Given the description of an element on the screen output the (x, y) to click on. 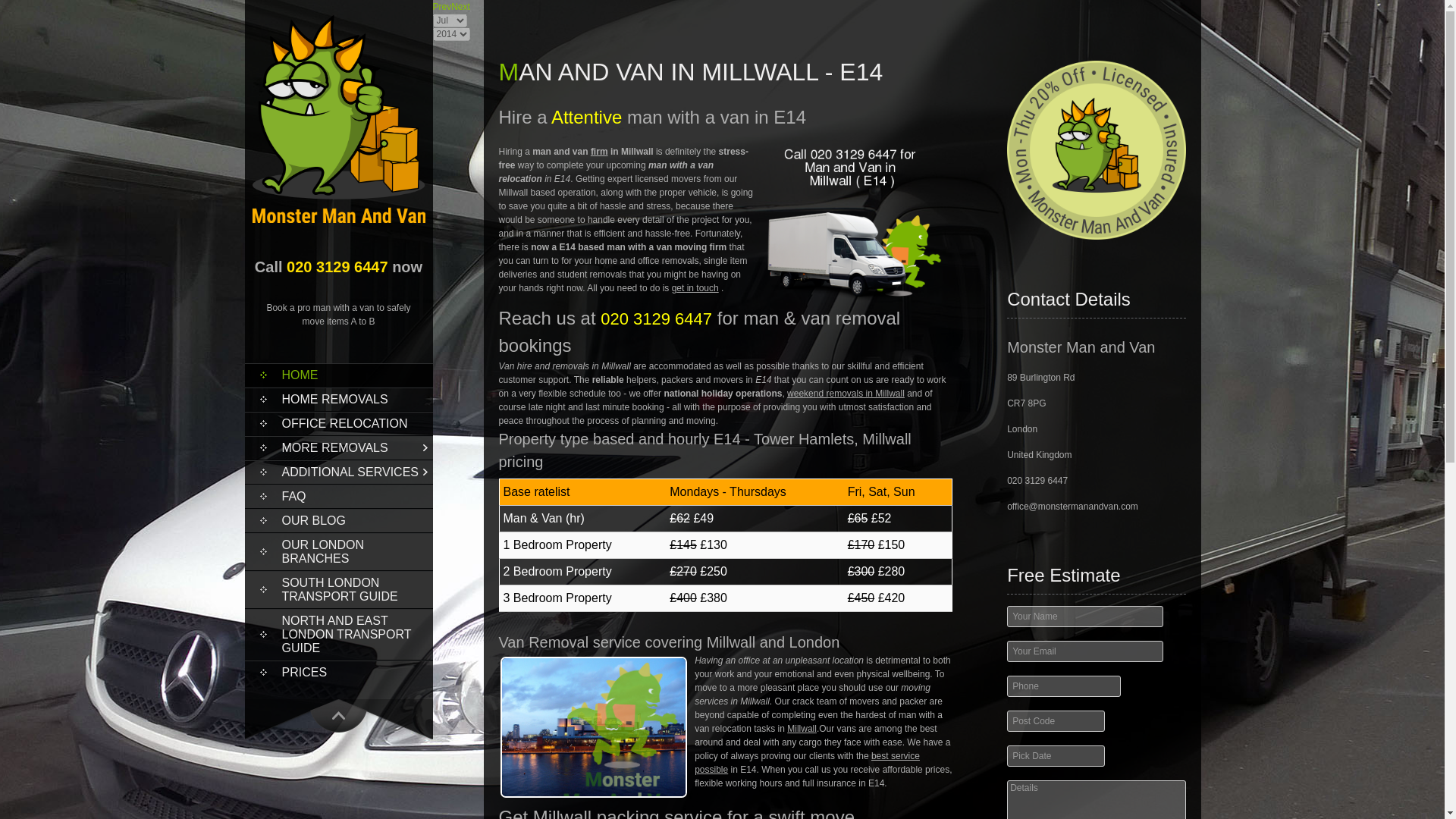
FAQ (338, 496)
MORE REMOVALS (338, 447)
SOUTH LONDON TRANSPORT GUIDE (338, 589)
OUR LONDON BRANCHES (338, 551)
OFFICE RELOCATION (338, 423)
Prev (441, 6)
Millwall E14 Man with a van (593, 726)
HOME (338, 374)
Next (460, 6)
NORTH AND EAST LONDON TRANSPORT GUIDE (338, 634)
OUR BLOG (338, 520)
ADDITIONAL SERVICES (338, 472)
Prev (441, 6)
SKIP TO CONTENT (298, 369)
020 3129 6447 (336, 266)
